Given the description of an element on the screen output the (x, y) to click on. 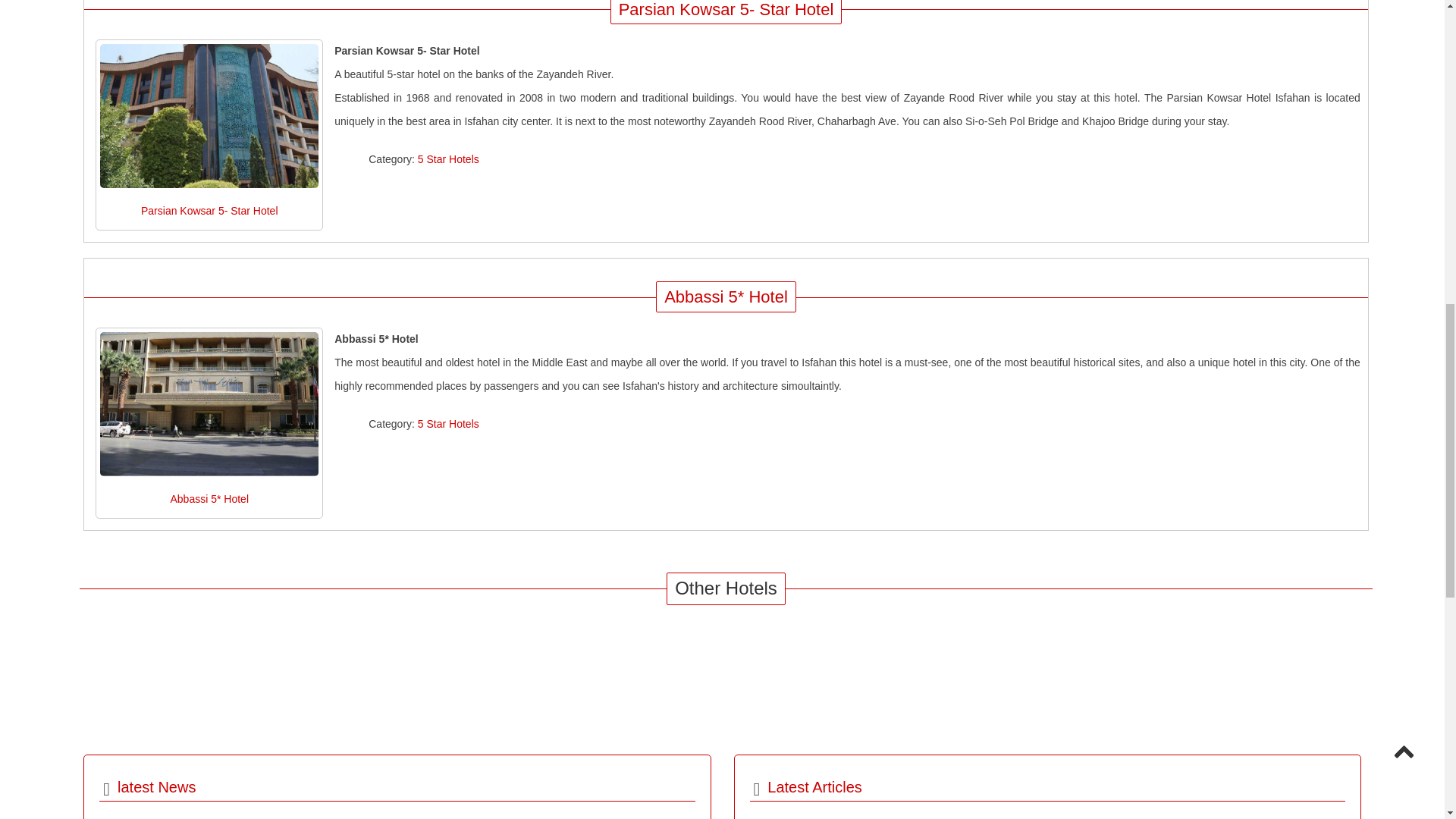
Parsian Kowsar 5- Star Hotel (209, 116)
